Given the description of an element on the screen output the (x, y) to click on. 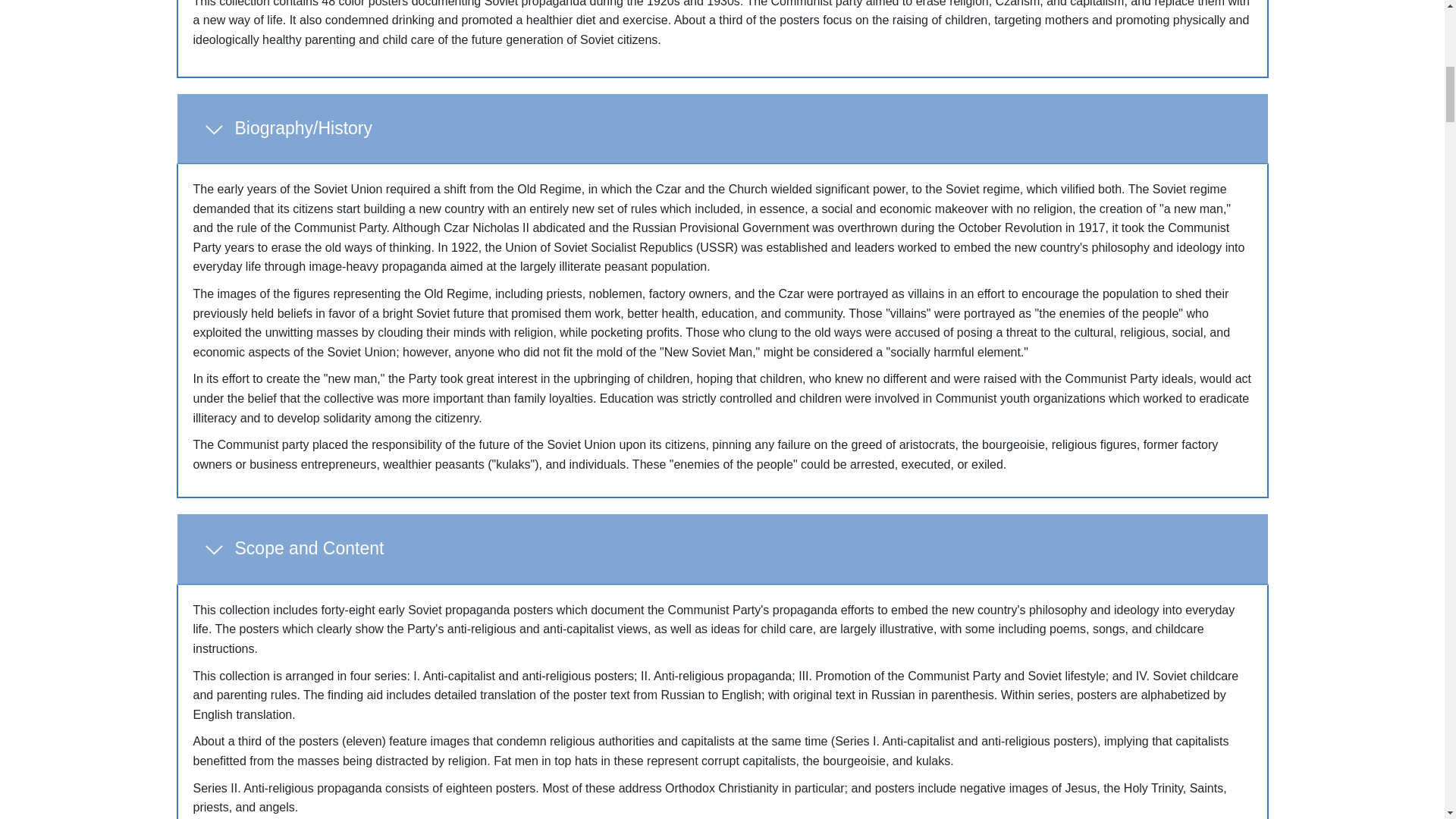
Scope and Content (722, 549)
